Given the description of an element on the screen output the (x, y) to click on. 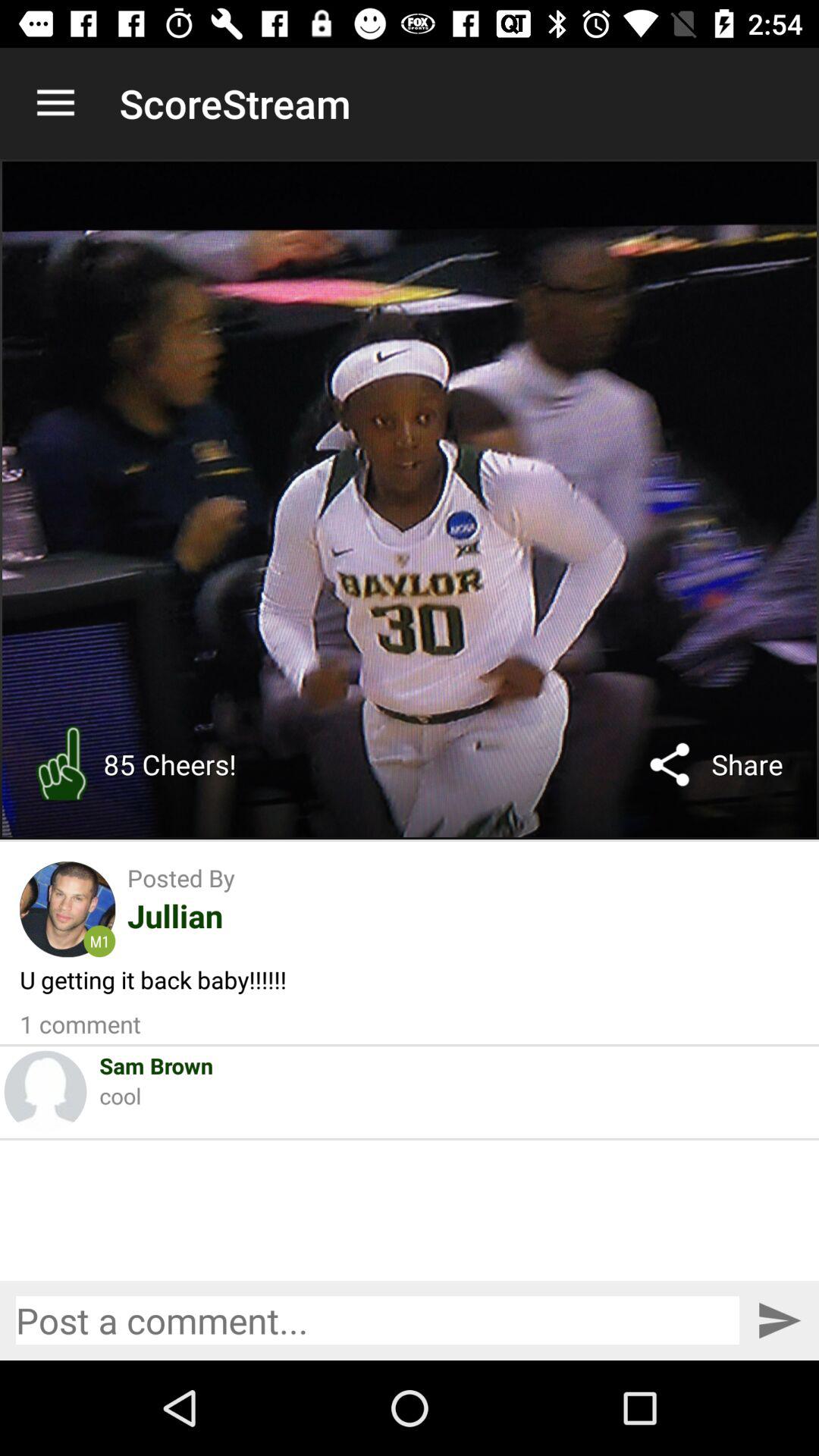
choose the item to the left of the share (669, 764)
